Given the description of an element on the screen output the (x, y) to click on. 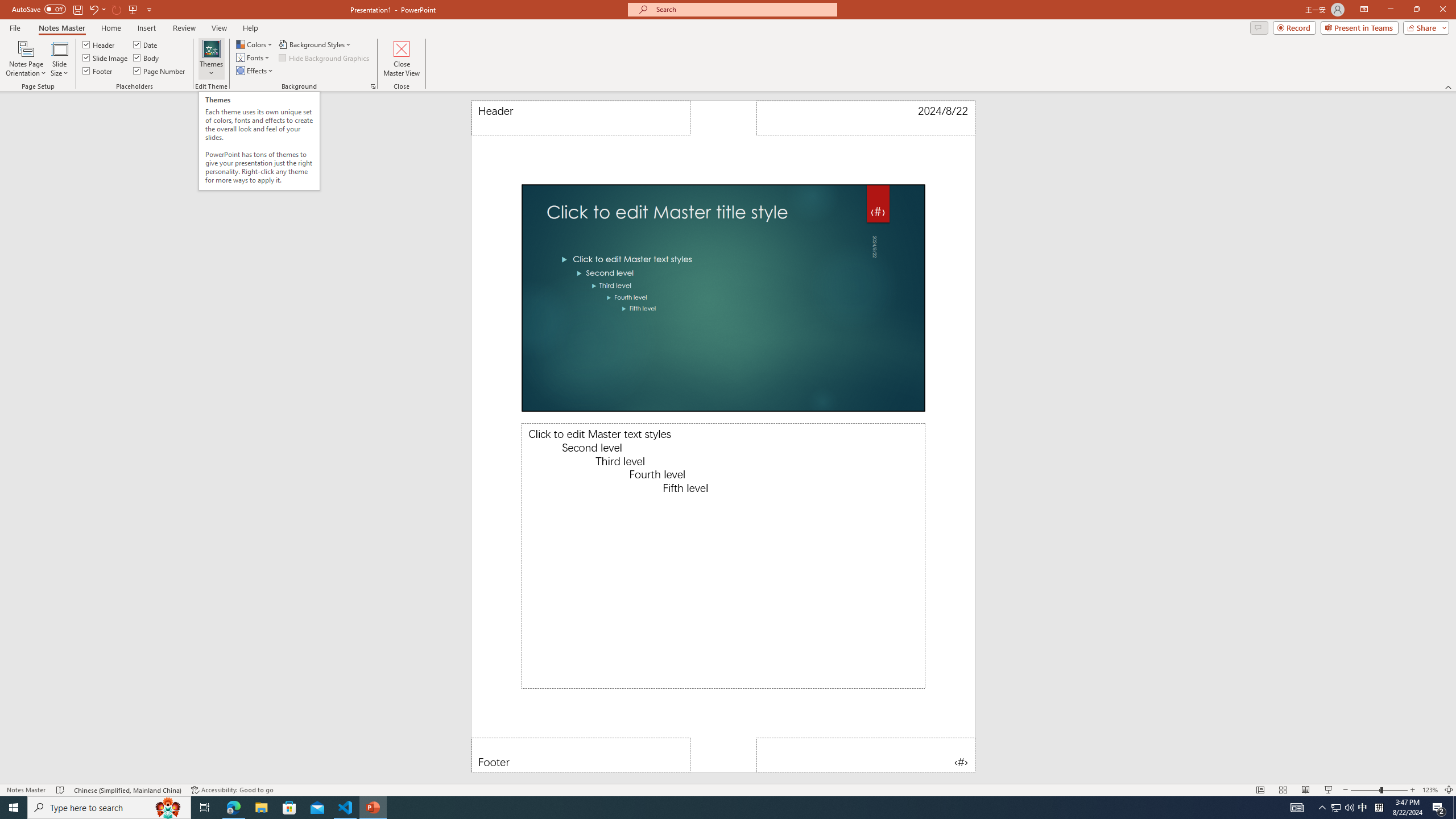
Header (580, 117)
Format Background... (372, 85)
Notes Master (61, 28)
Colors (255, 44)
Accessibility Checker Accessibility: Good to go (232, 790)
Effects (255, 69)
